Given the description of an element on the screen output the (x, y) to click on. 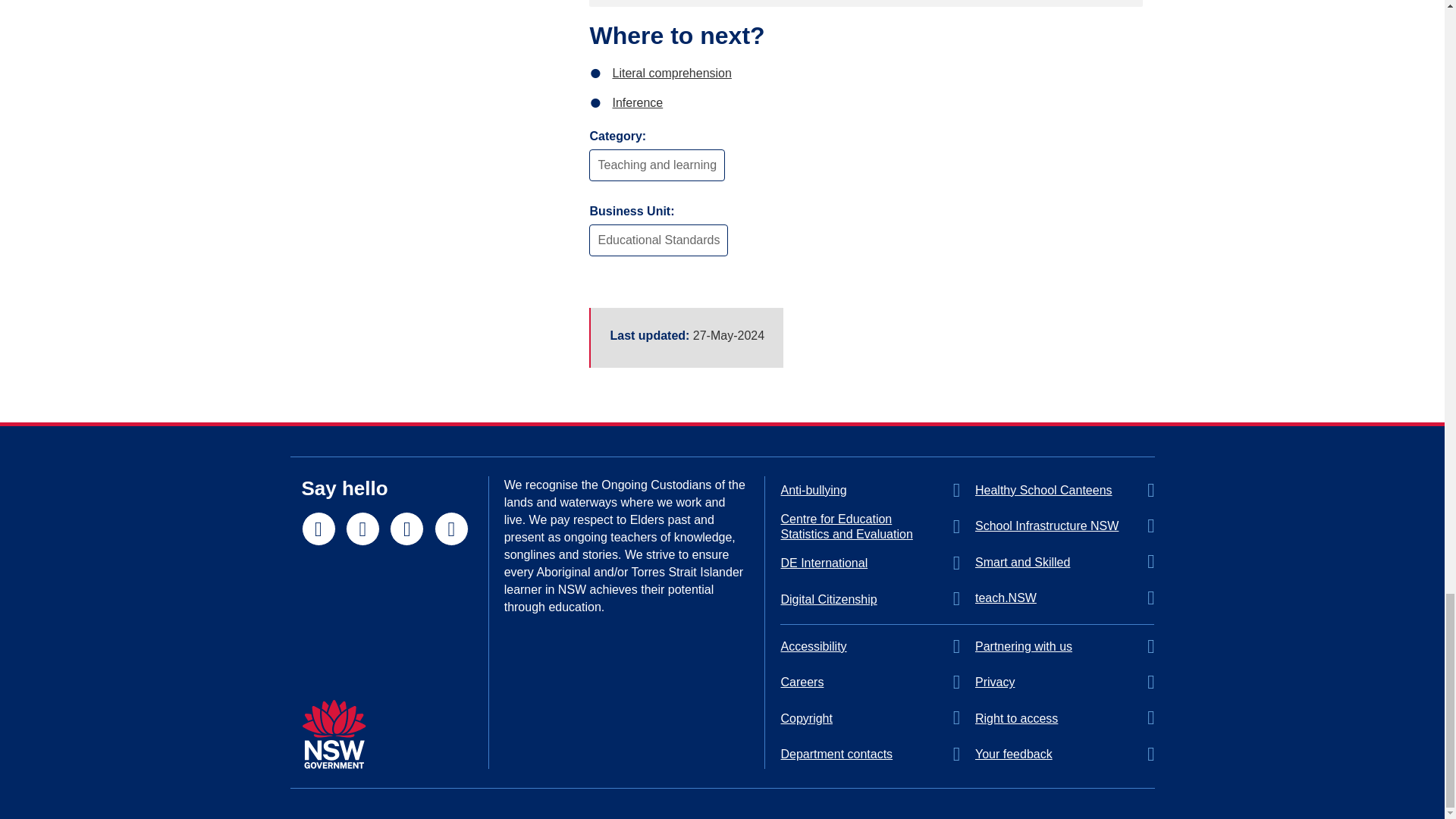
NSW Government (333, 734)
